Given the description of an element on the screen output the (x, y) to click on. 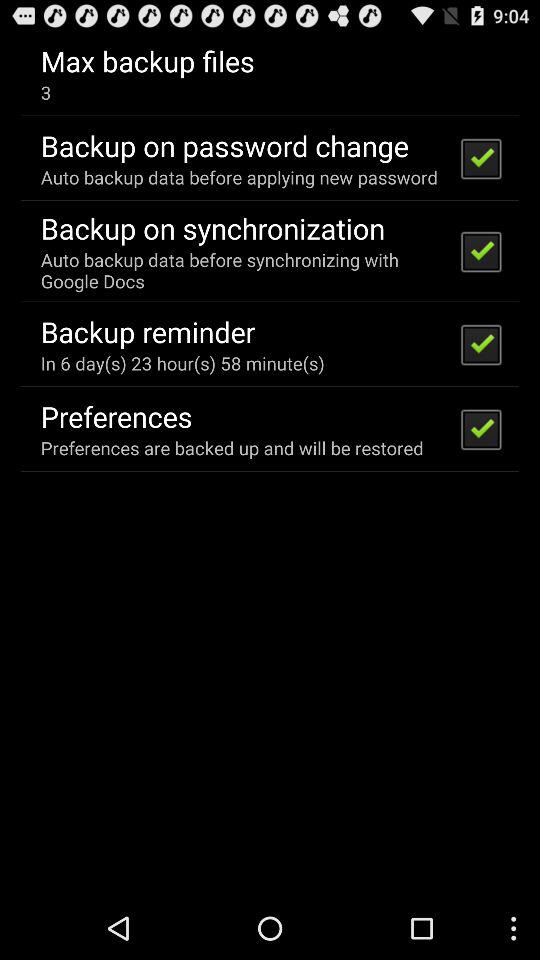
launch the icon below the auto backup data item (147, 331)
